Given the description of an element on the screen output the (x, y) to click on. 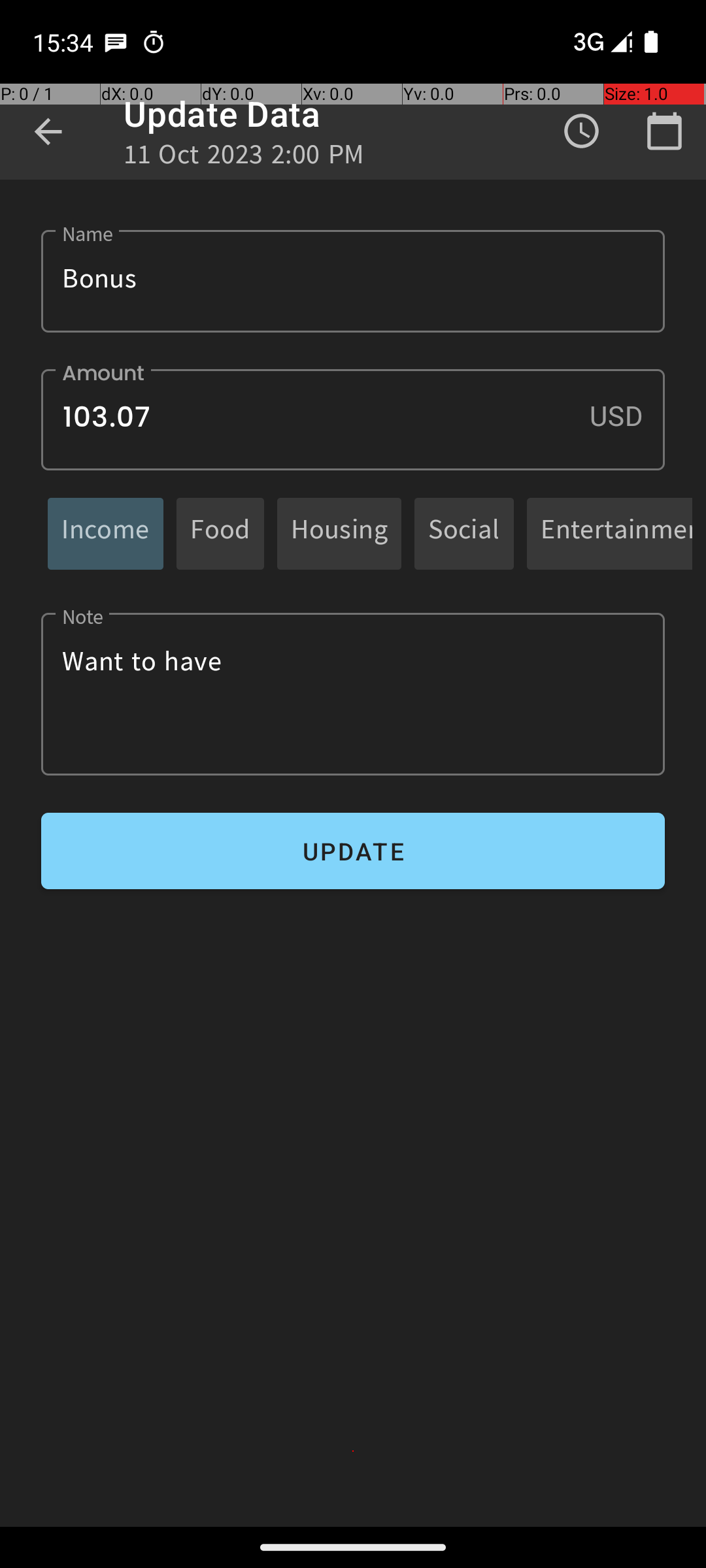
11 Oct 2023 2:00 PM Element type: android.widget.TextView (243, 157)
103.07 Element type: android.widget.EditText (352, 419)
